Given the description of an element on the screen output the (x, y) to click on. 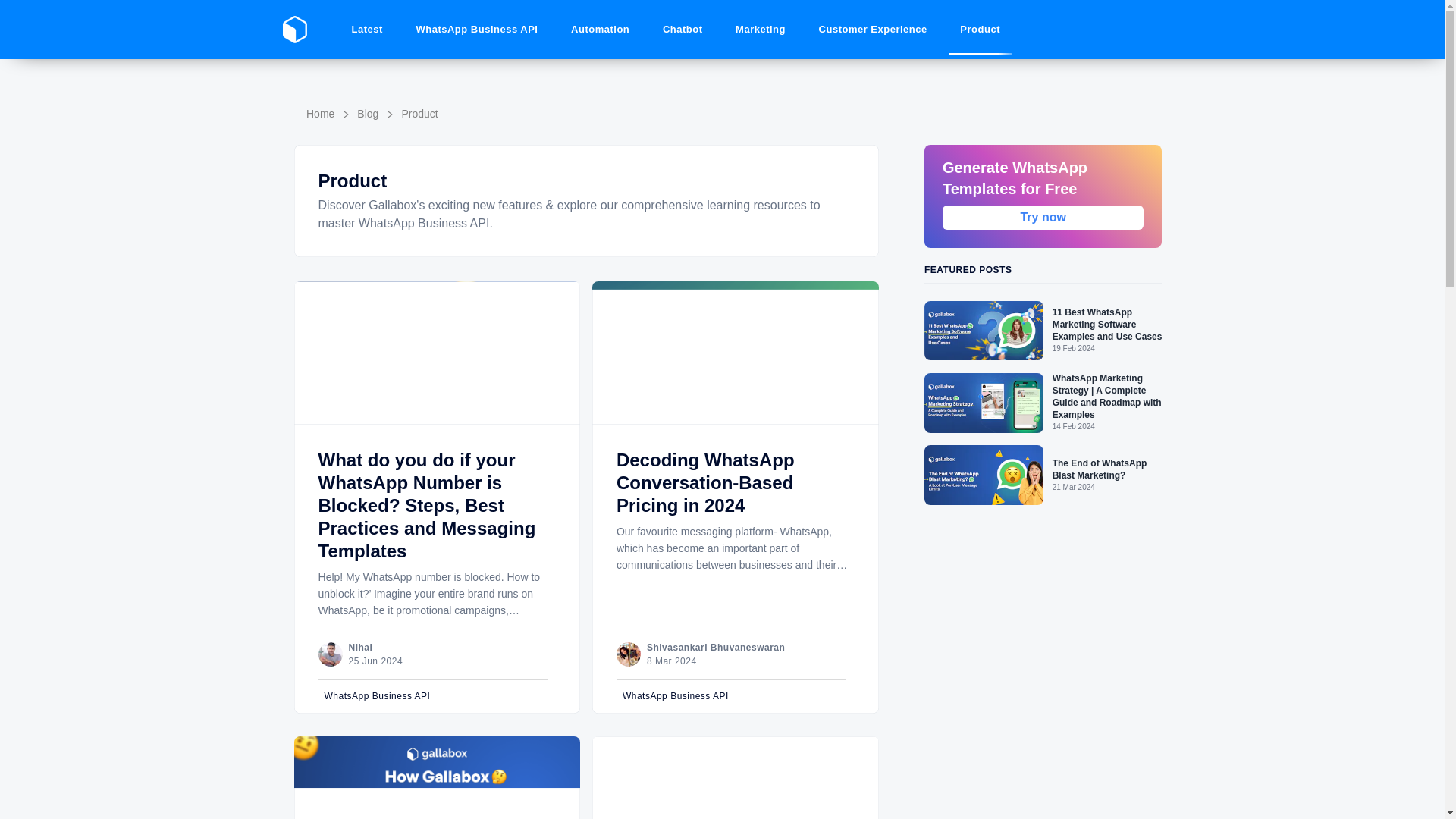
Customer Experience (873, 29)
WhatsApp Business API (737, 695)
Product (419, 114)
Automation (599, 29)
Shivasankari Bhuvaneswaran (715, 647)
Marketing (759, 29)
WhatsApp Business API (438, 695)
Blog (367, 114)
Decoding WhatsApp Conversation-Based Pricing in 2024 (704, 482)
